Given the description of an element on the screen output the (x, y) to click on. 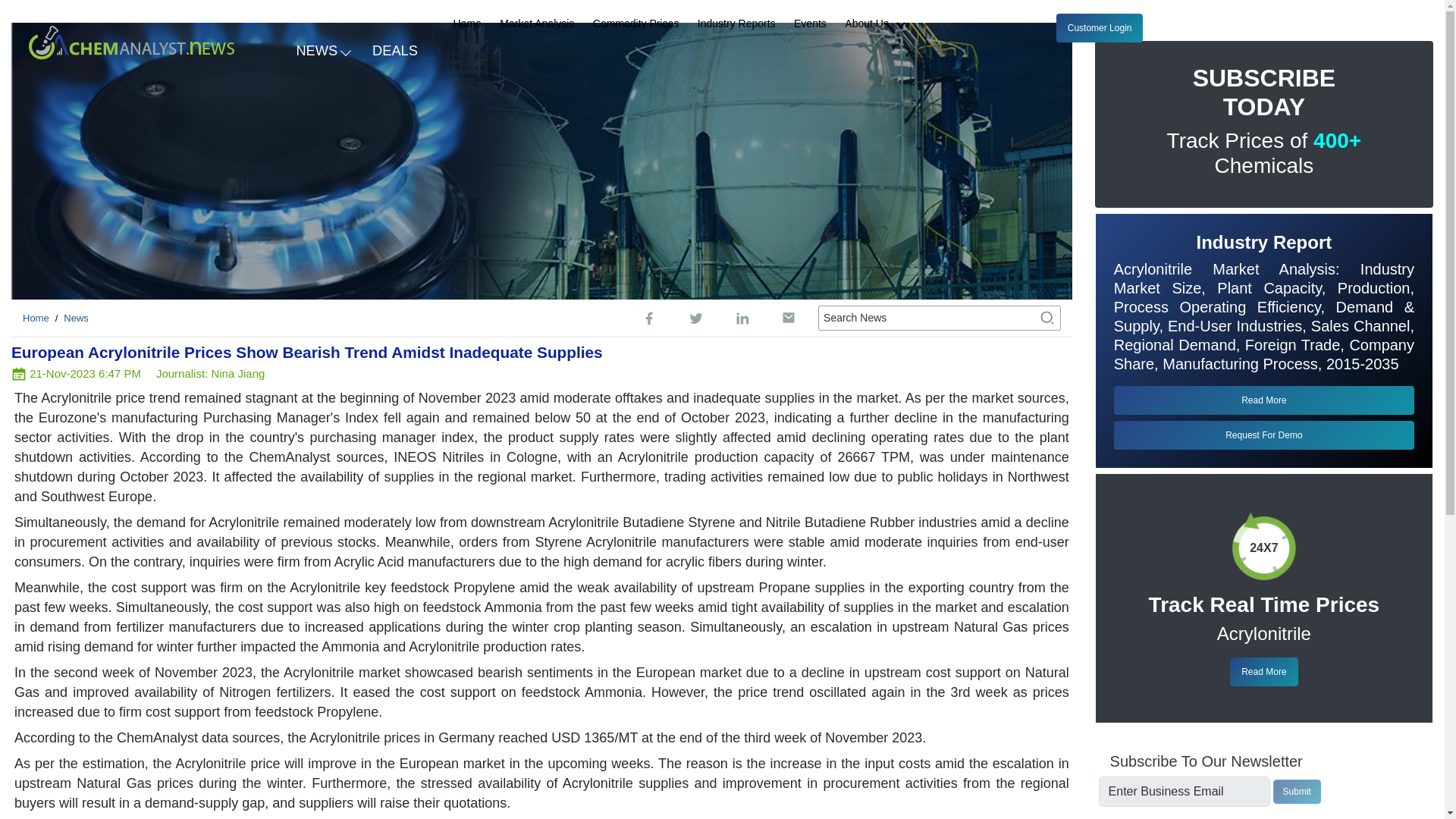
Customer Login (1099, 27)
Market Analysis (536, 23)
DEALS (395, 49)
NEWS (322, 49)
Commodity Prices (636, 23)
Home (467, 23)
About Us (880, 24)
Events (810, 23)
Submit (1296, 791)
Home (36, 317)
